Given the description of an element on the screen output the (x, y) to click on. 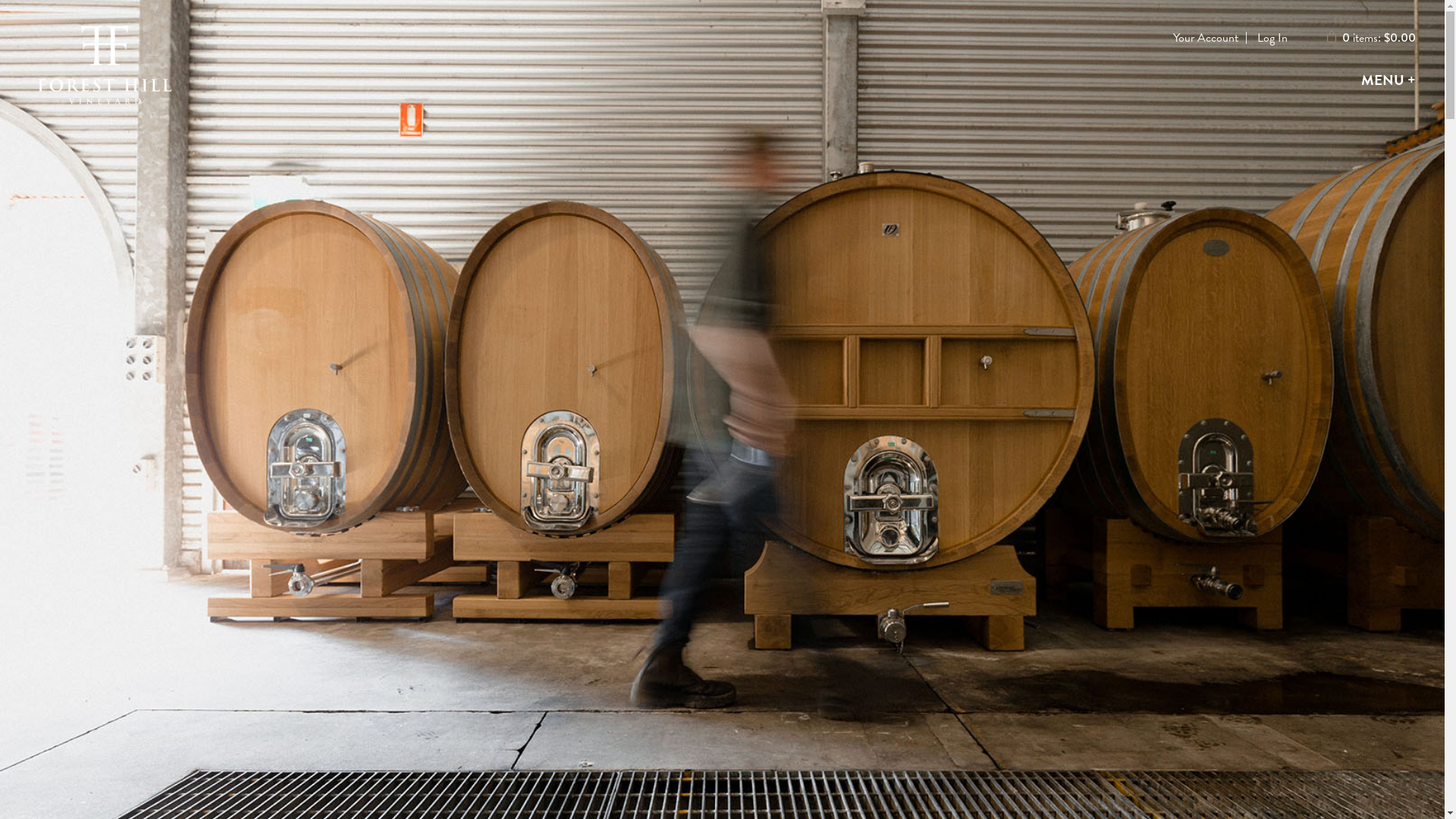
MENU + Element type: text (1388, 80)
Forest Hill Vineyard Element type: text (104, 72)
0 items: $0.00 Element type: text (1370, 37)
Your Account Element type: text (1205, 37)
Log In Element type: text (1272, 37)
